Given the description of an element on the screen output the (x, y) to click on. 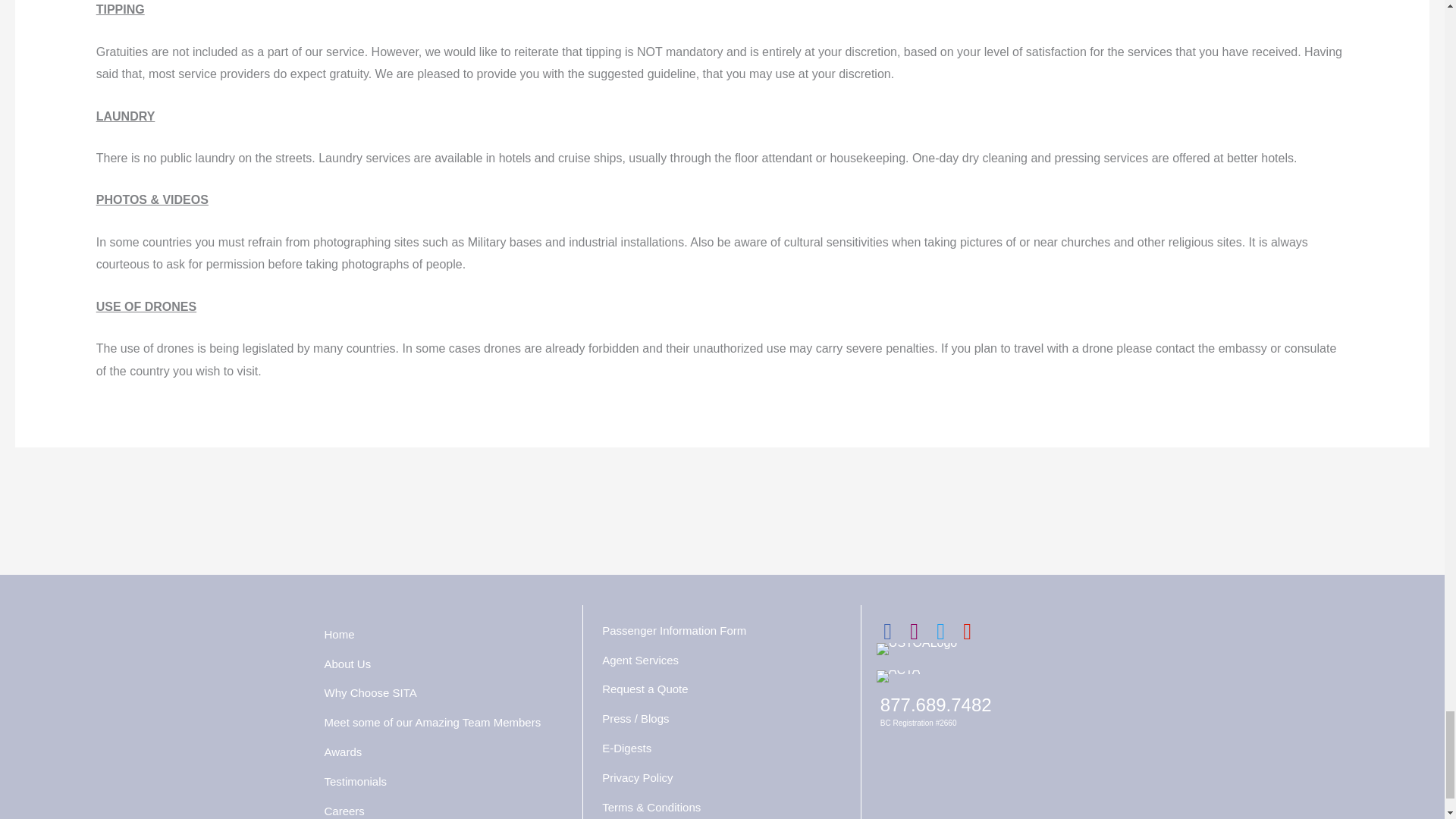
USTOALogo (916, 648)
ACTA (898, 676)
